Given the description of an element on the screen output the (x, y) to click on. 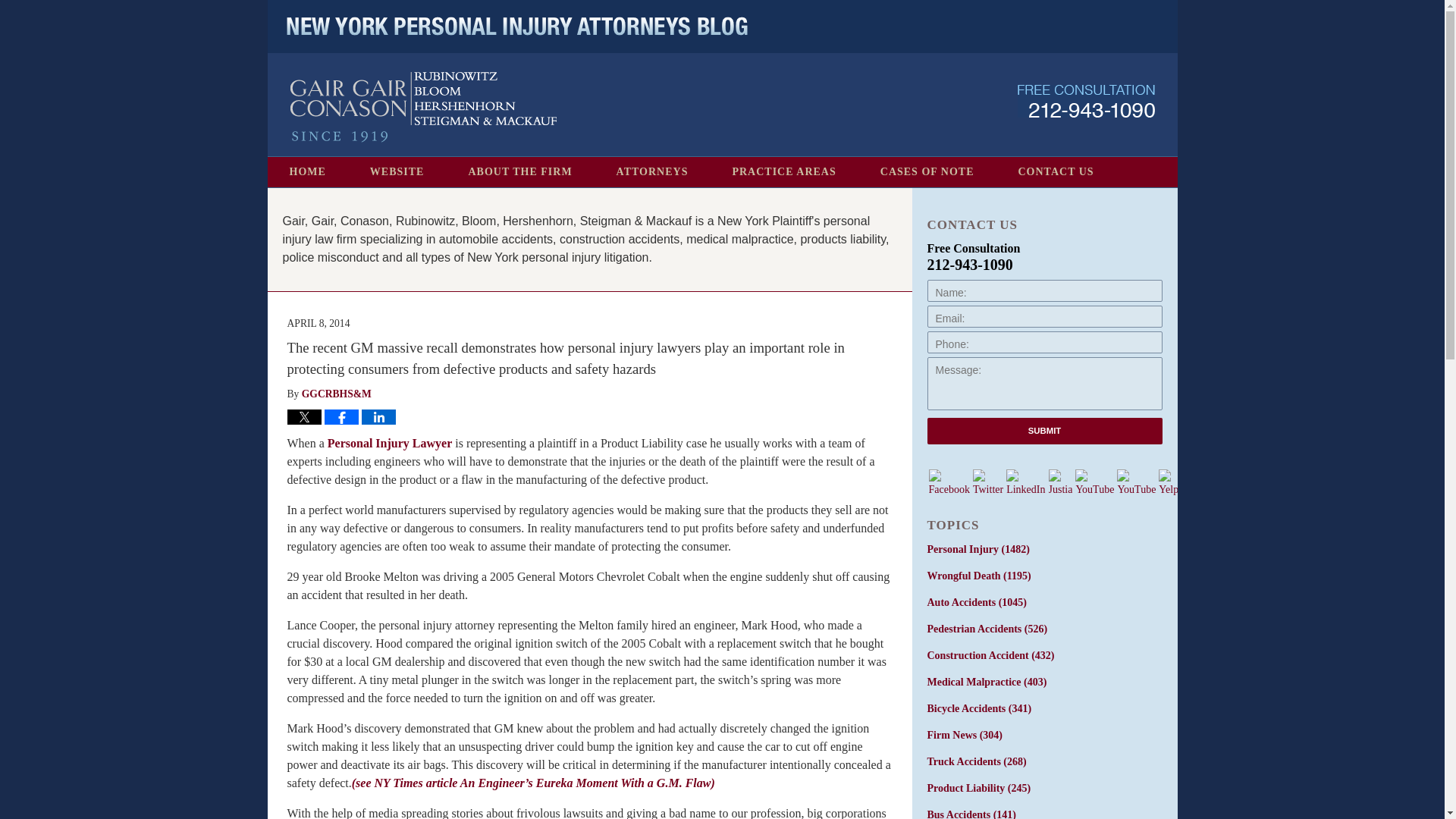
LinkedIn (1025, 483)
Facebook (948, 483)
SUBMIT (1043, 430)
Twitter (987, 483)
Facebook (948, 483)
YouTube (1136, 483)
Personal Injury Lawyer (389, 442)
New York Personal Injury Attorneys Blog (422, 107)
YouTube (1094, 483)
Twitter (987, 483)
